Given the description of an element on the screen output the (x, y) to click on. 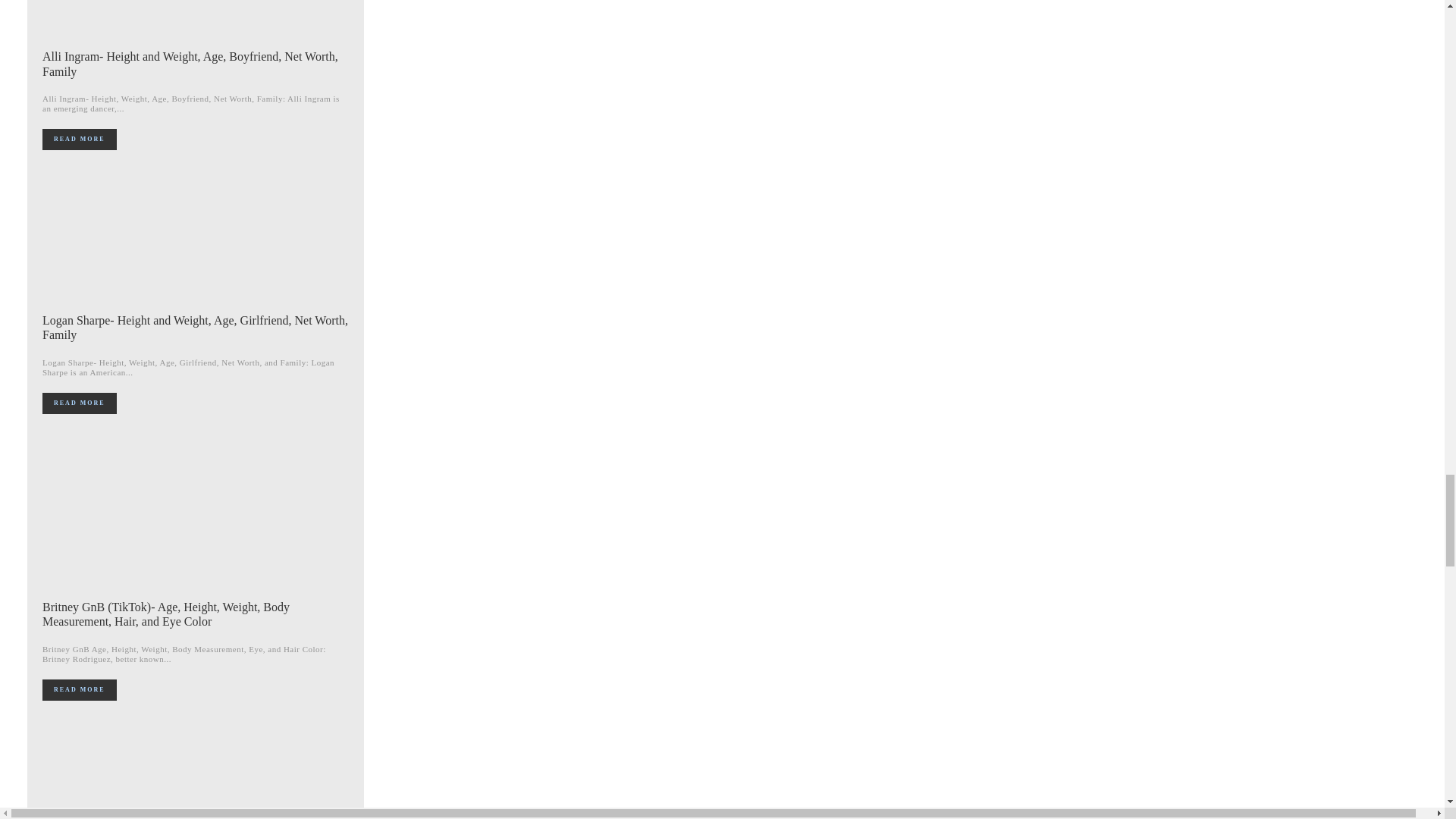
Read more (79, 138)
Read more (79, 403)
